Given the description of an element on the screen output the (x, y) to click on. 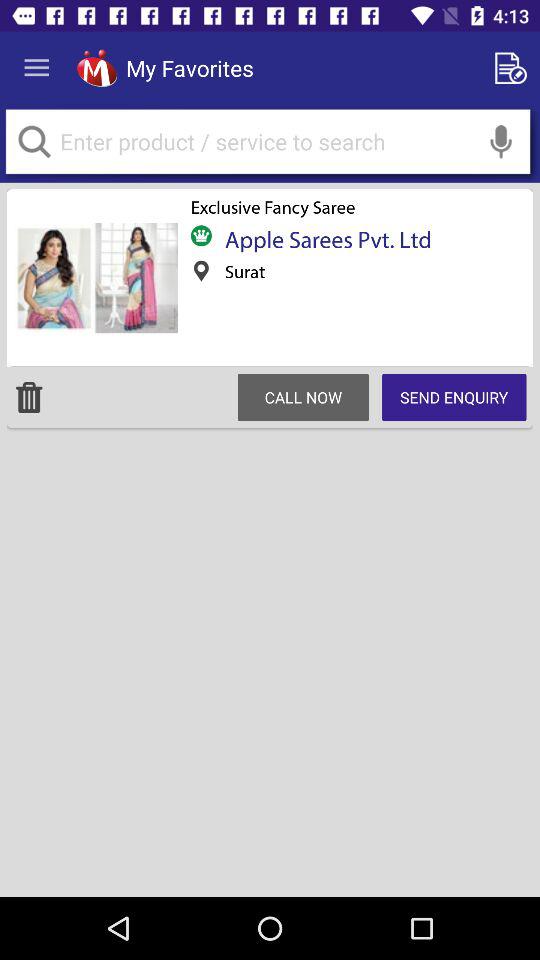
delete product (29, 397)
